Given the description of an element on the screen output the (x, y) to click on. 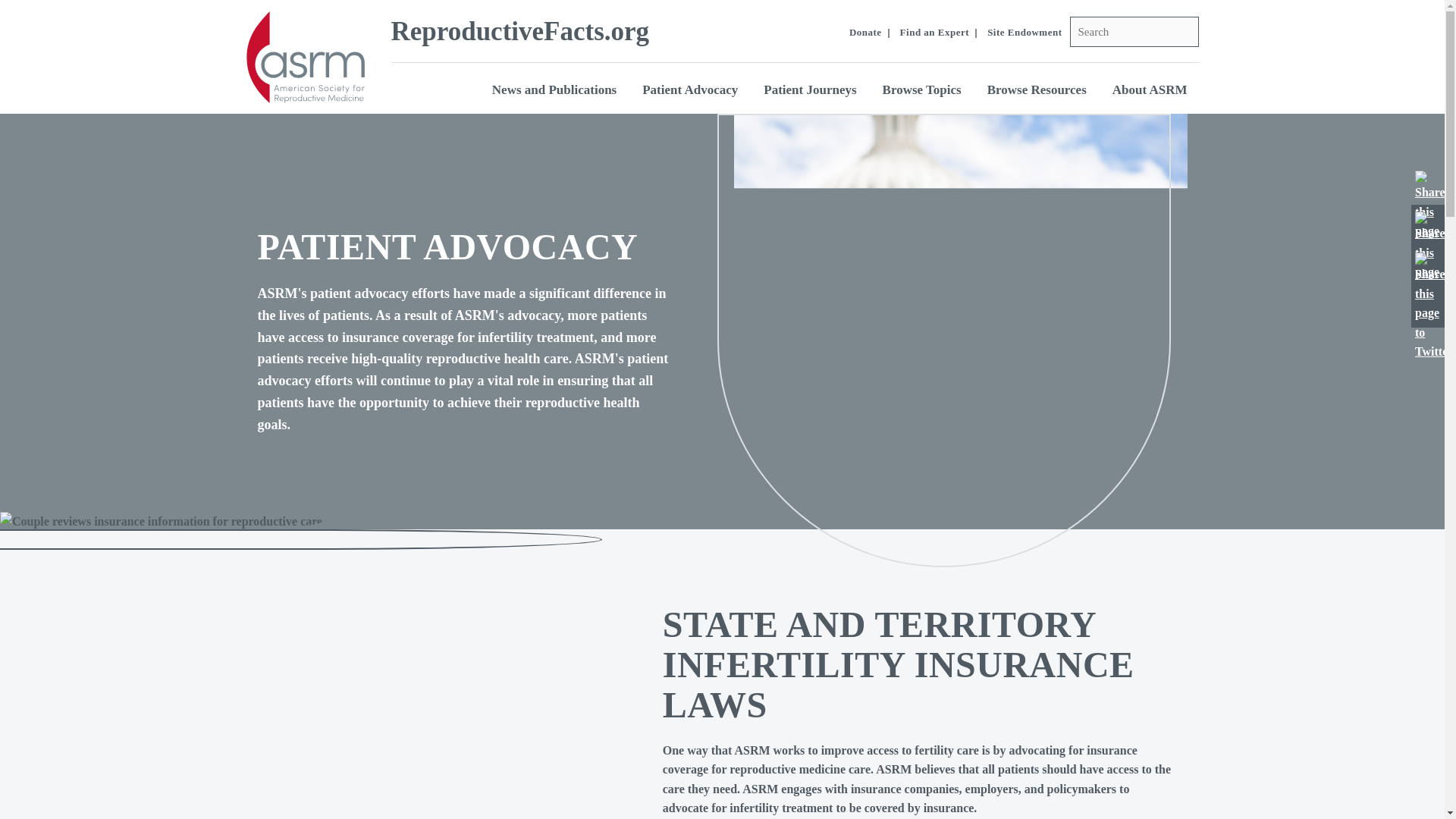
Site Endowment (1024, 31)
Browse Resources (1036, 89)
News and Publications (553, 89)
Patient Journeys (809, 89)
Find an Expert (934, 31)
Donate (865, 31)
Patient Advocacy (689, 89)
Browse Topics (921, 89)
